Given the description of an element on the screen output the (x, y) to click on. 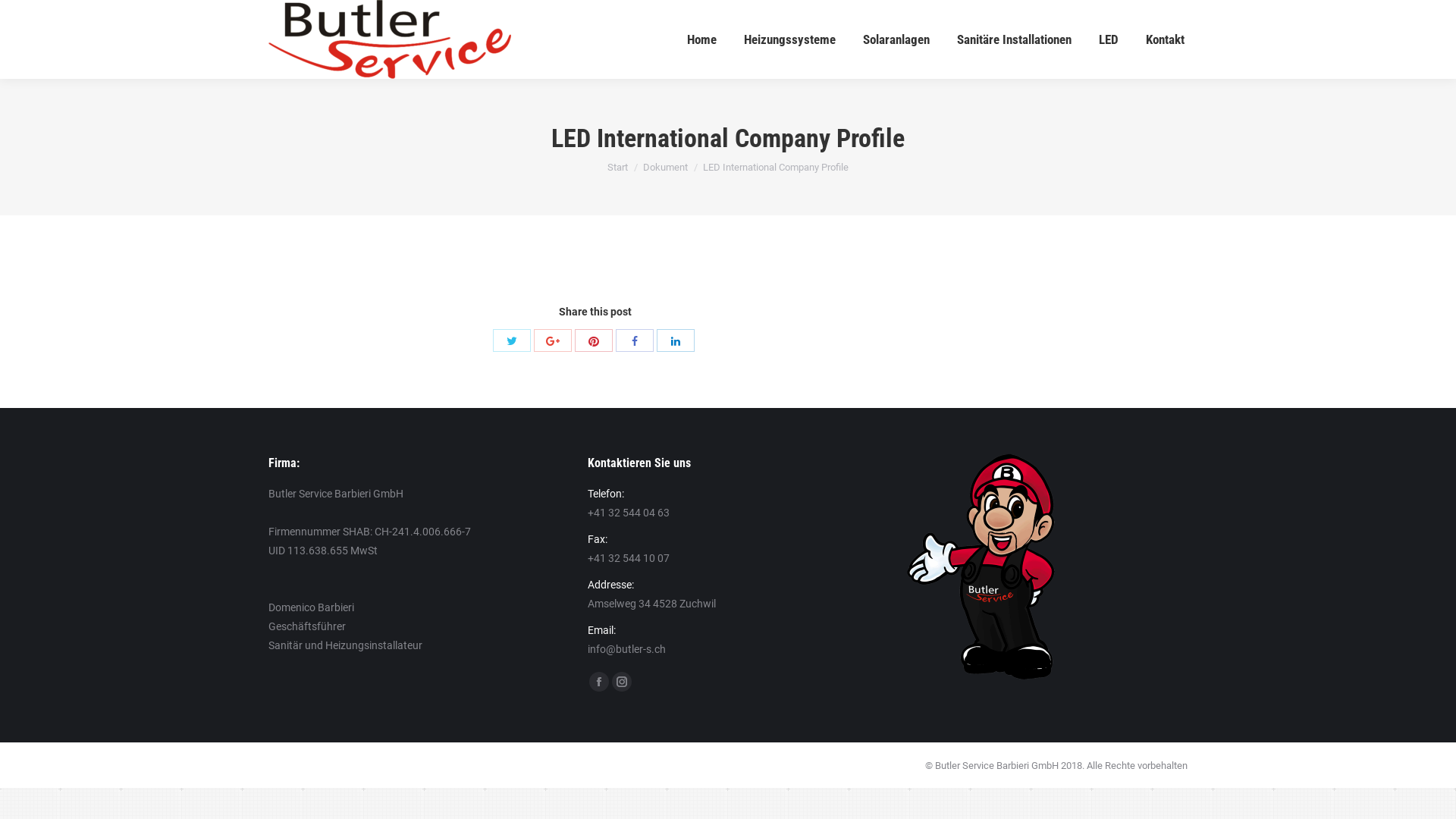
Share with Pinterest Element type: text (593, 340)
Instagram Element type: text (621, 681)
Facebook Element type: text (598, 681)
Heizungssysteme Element type: text (789, 39)
Share with Facebook Element type: text (634, 340)
Start Element type: text (617, 166)
Dokument Element type: text (665, 166)
Share with Twitter Element type: text (511, 340)
LED Element type: text (1108, 39)
Solaranlagen Element type: text (895, 39)
Share with Google+ Element type: text (552, 340)
Home Element type: text (701, 39)
Kontakt Element type: text (1164, 39)
Share with LinkedIn Element type: text (675, 340)
